Given the description of an element on the screen output the (x, y) to click on. 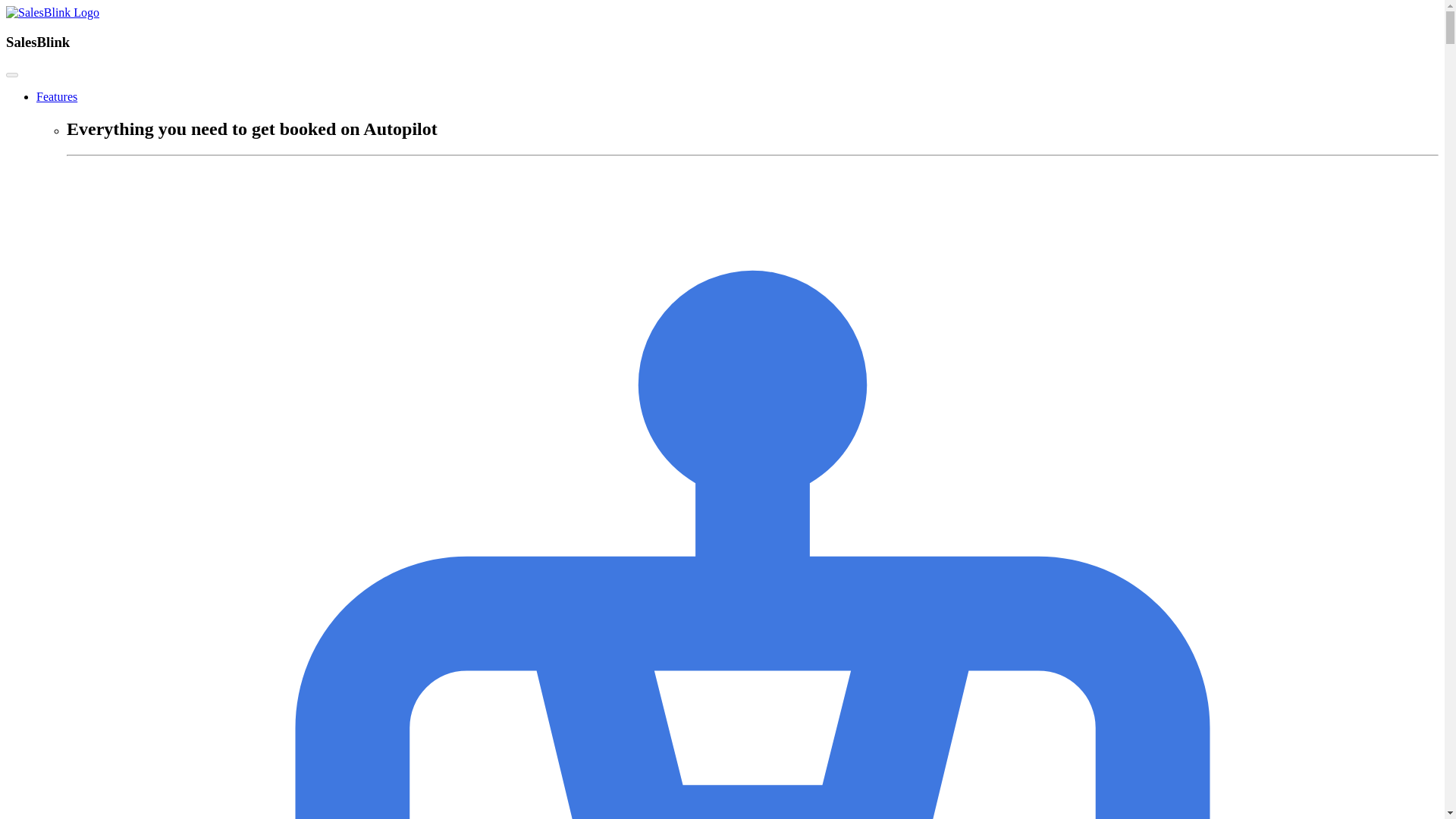
SalesBlink Logo (52, 12)
Features (56, 96)
